Given the description of an element on the screen output the (x, y) to click on. 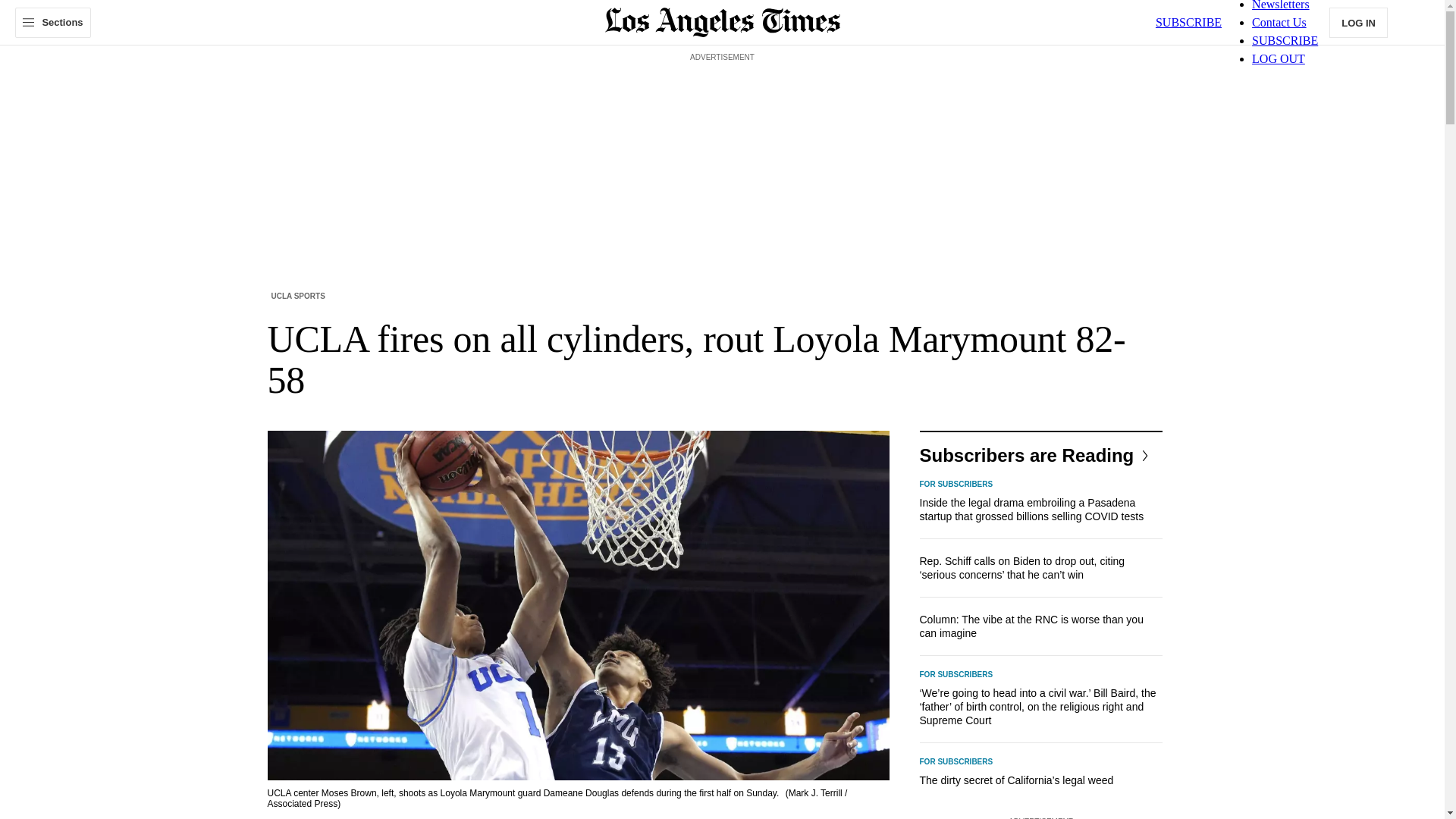
3rd party ad content (721, 100)
